Given the description of an element on the screen output the (x, y) to click on. 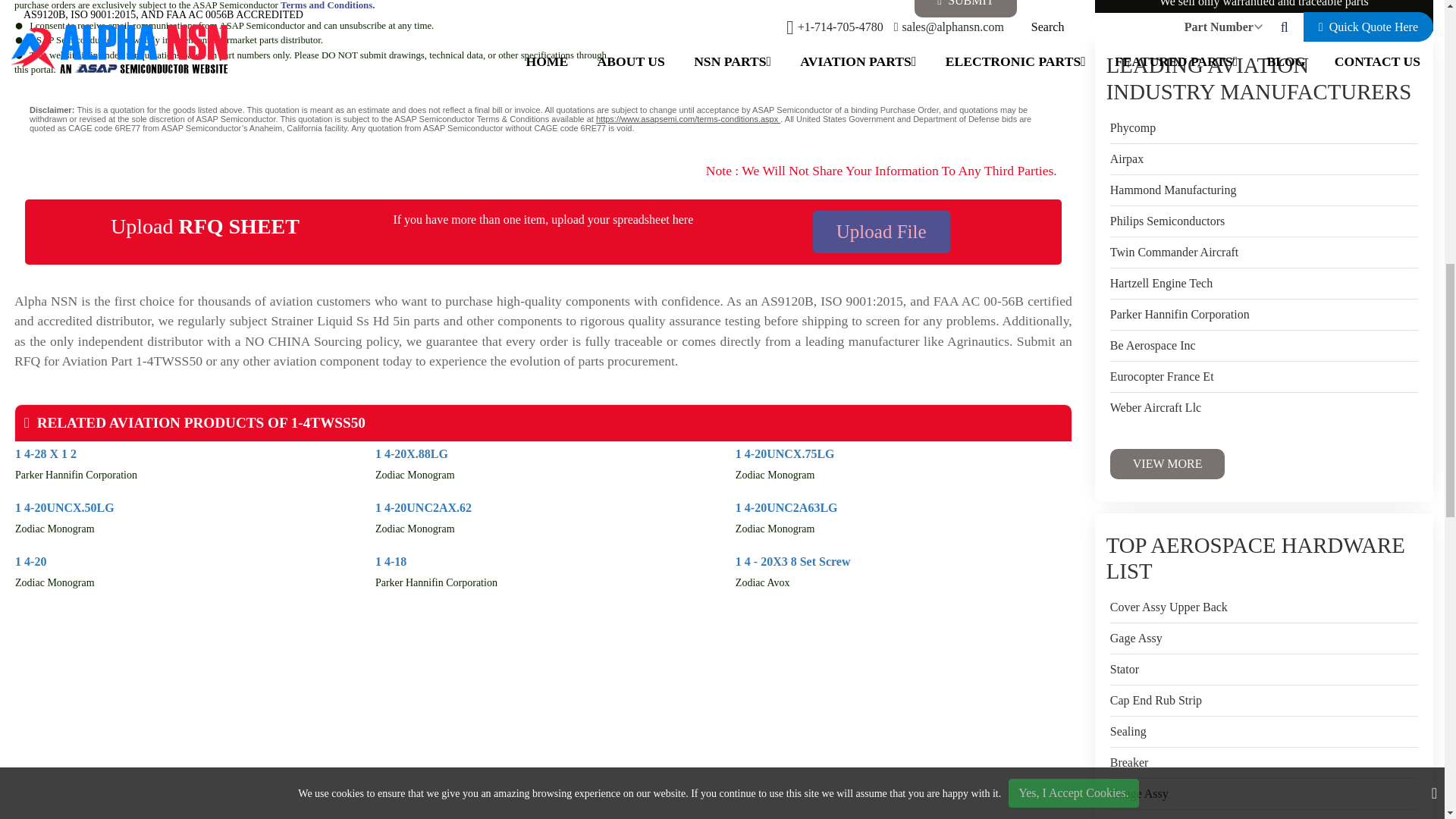
RFQ disclaimer (542, 119)
